Given the description of an element on the screen output the (x, y) to click on. 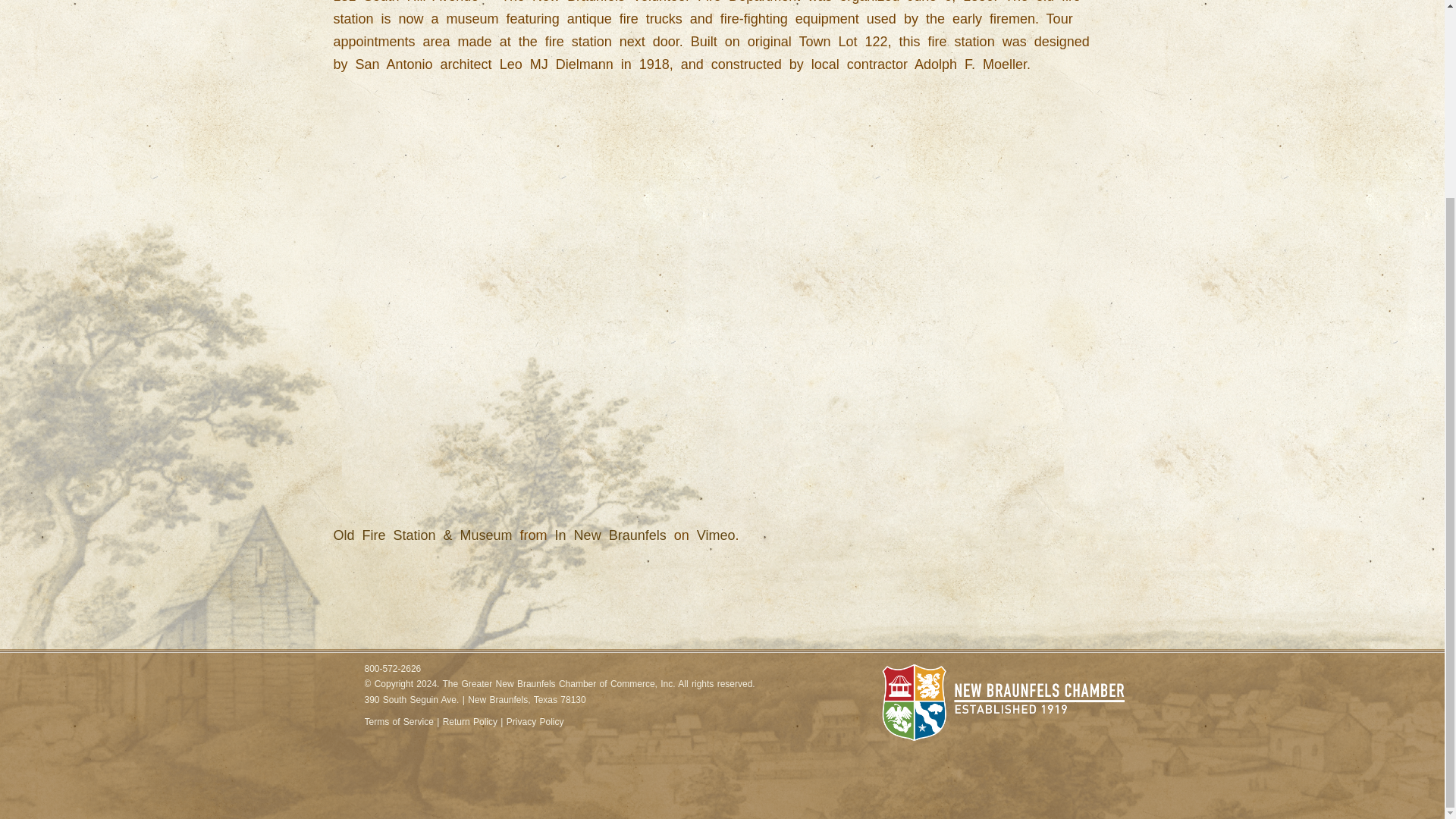
Vimeo (716, 534)
Return Policy (469, 721)
In New Braunfels (610, 534)
Privacy Policy (535, 721)
800-572-2626 (392, 668)
Terms of Service (398, 721)
